Given the description of an element on the screen output the (x, y) to click on. 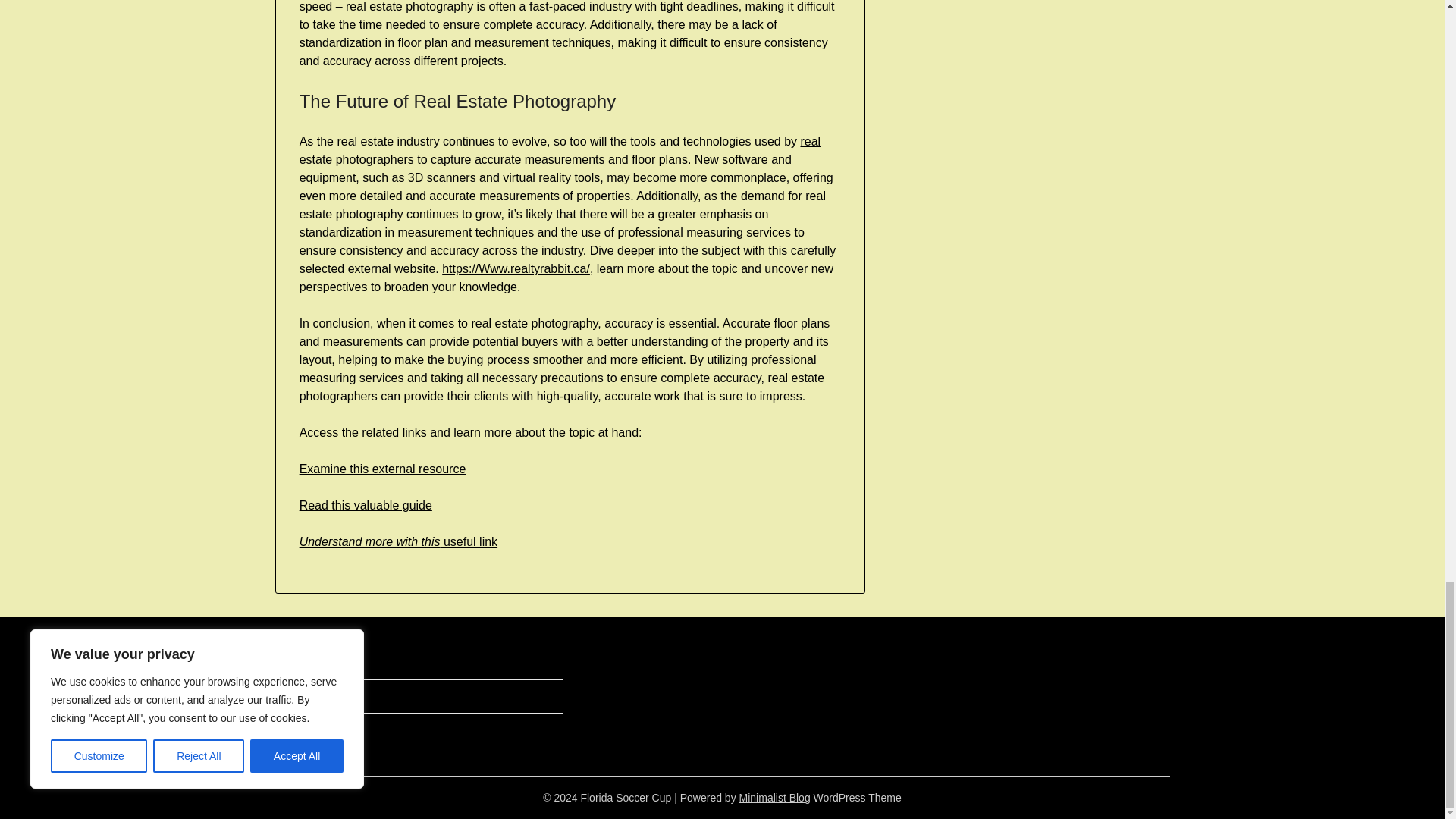
consistency (371, 250)
Understand more with this useful link (398, 541)
real estate (560, 150)
Read this valuable guide (365, 504)
Examine this external resource (382, 468)
